Given the description of an element on the screen output the (x, y) to click on. 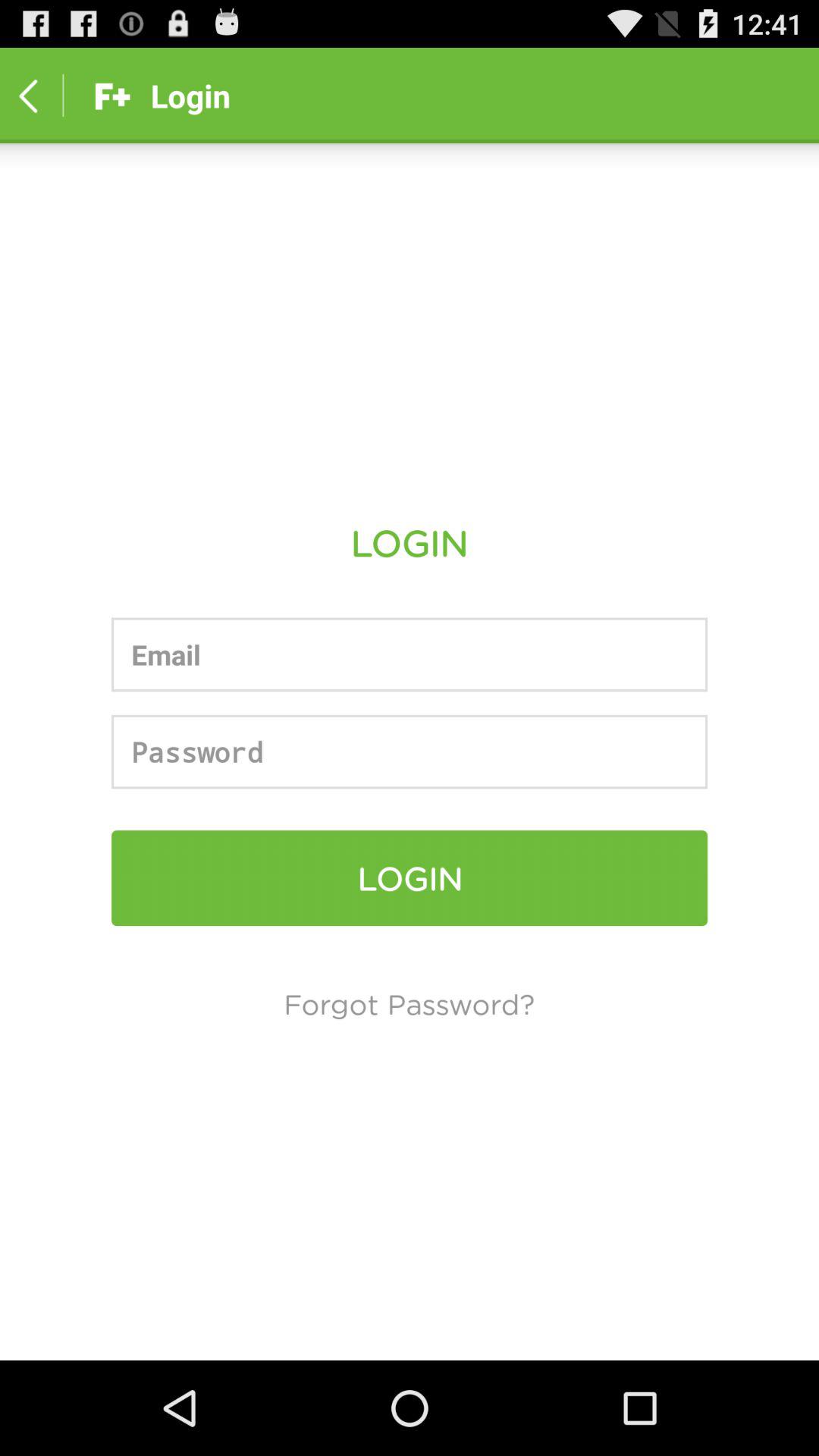
enter password (409, 751)
